Given the description of an element on the screen output the (x, y) to click on. 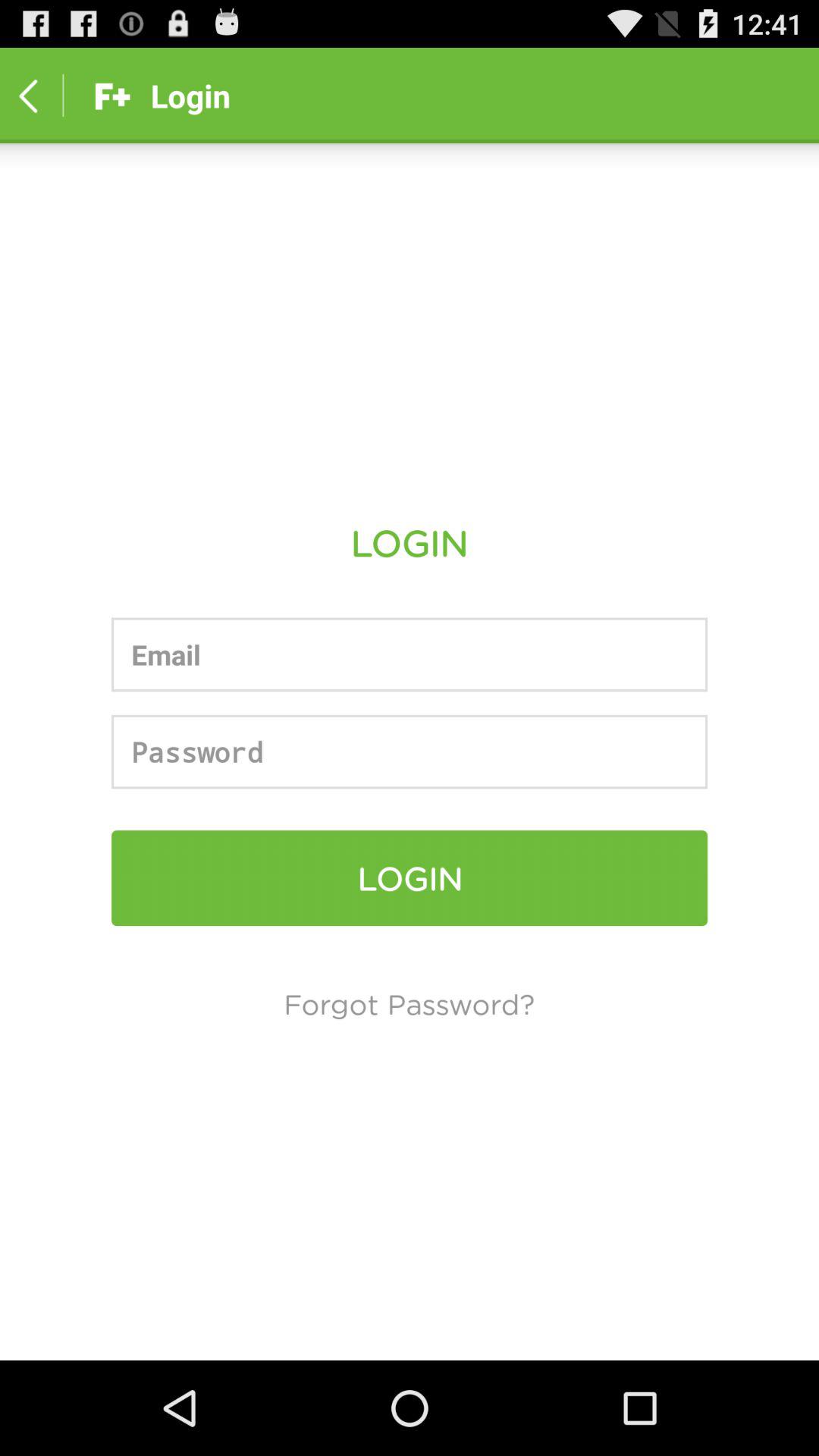
enter password (409, 751)
